Given the description of an element on the screen output the (x, y) to click on. 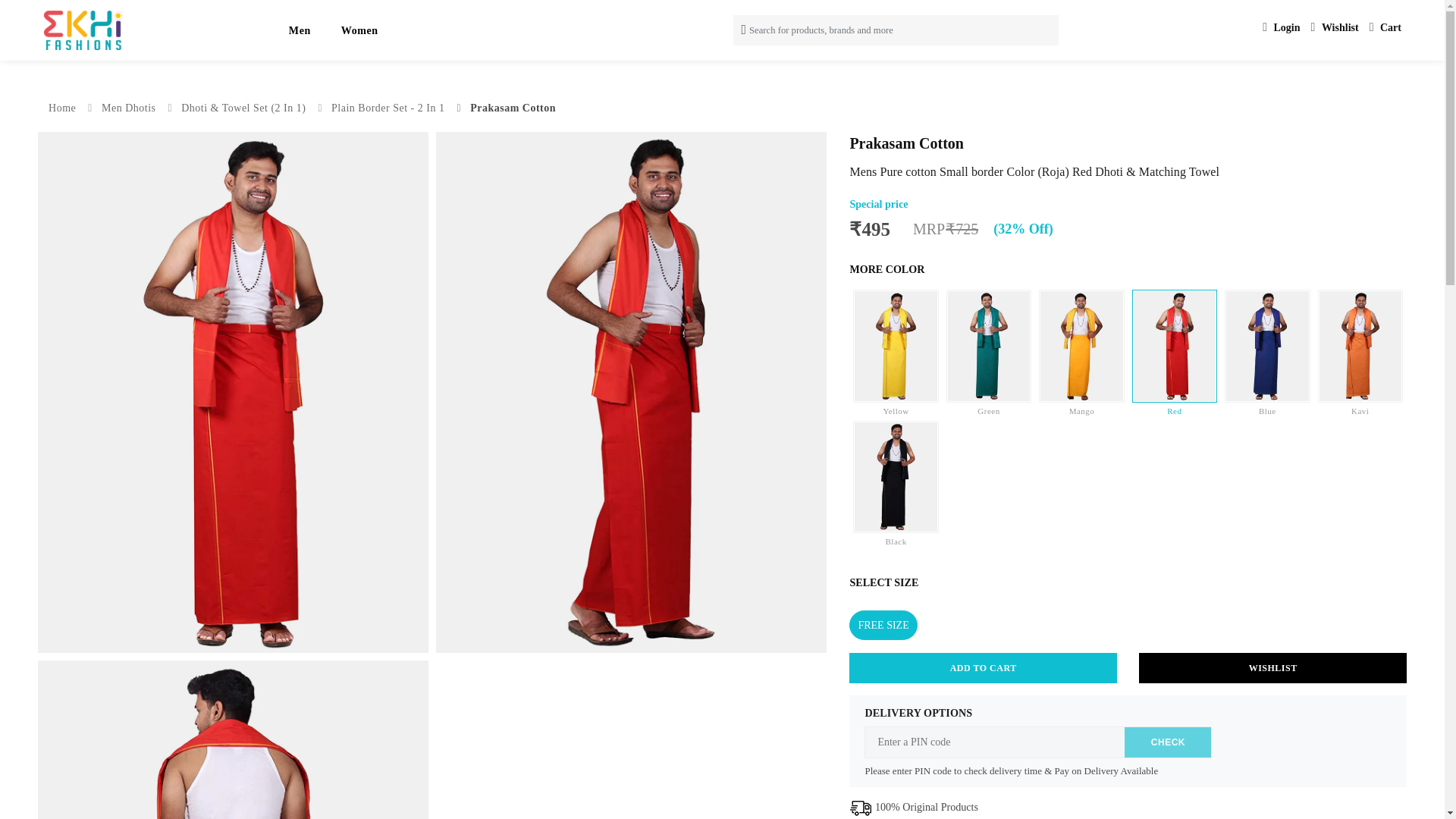
Home (61, 107)
Login (1280, 27)
Wishlist (1335, 27)
Women (359, 30)
Cart (1385, 27)
Men Dhotis (128, 107)
